Given the description of an element on the screen output the (x, y) to click on. 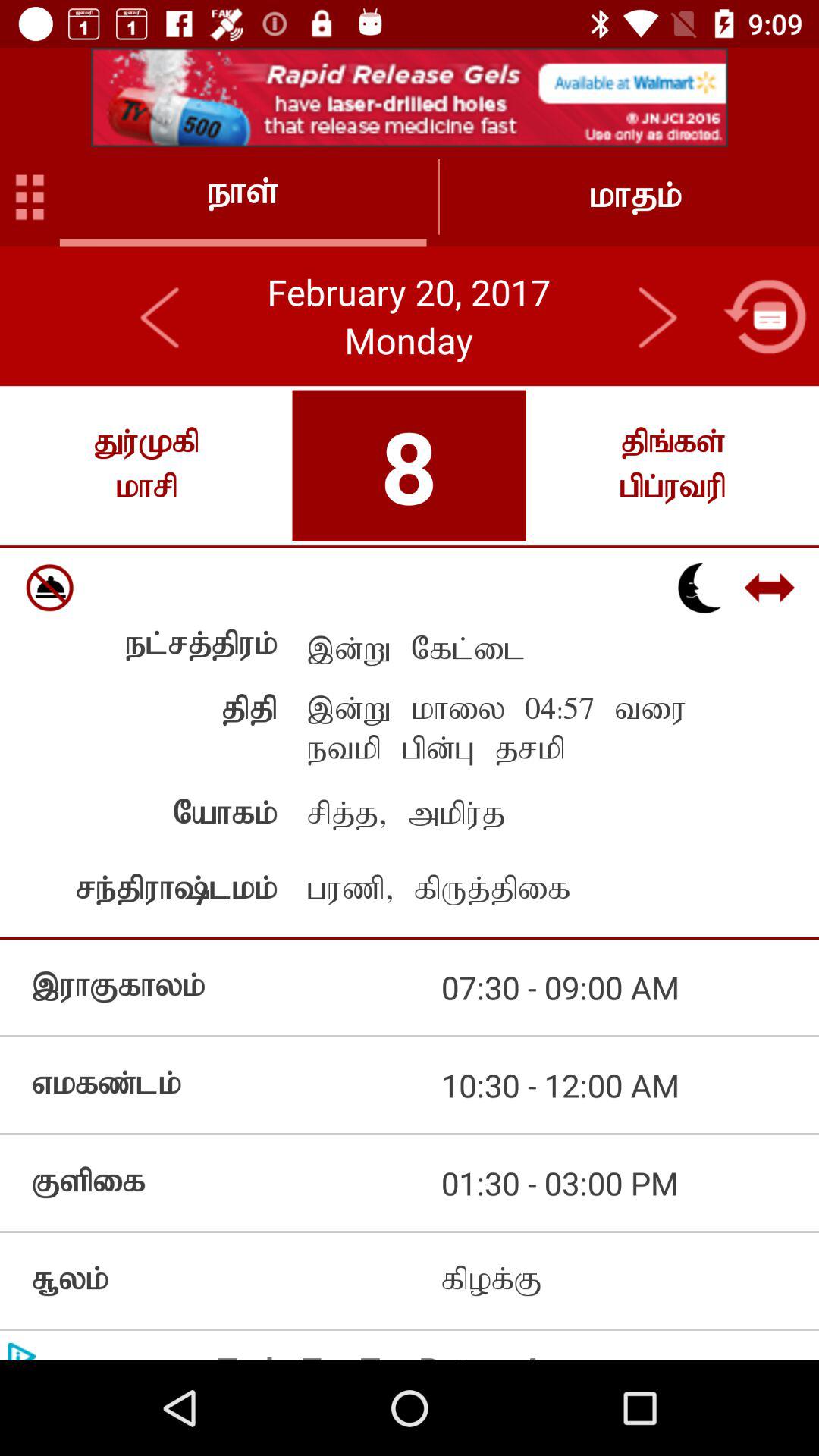
click on go back arrow (160, 316)
